Given the description of an element on the screen output the (x, y) to click on. 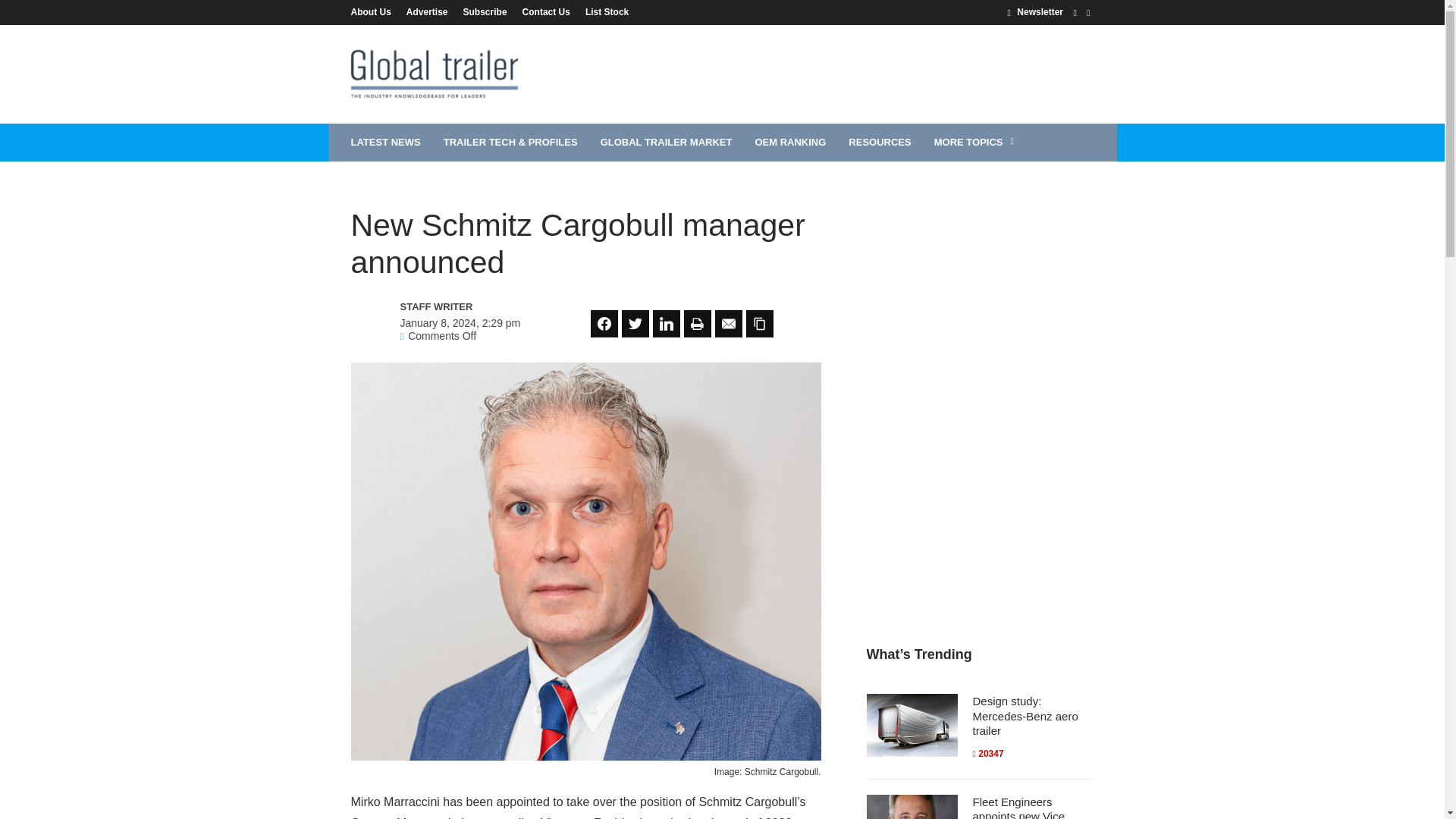
Share on Email (728, 323)
About Us (373, 11)
Share on Print (697, 323)
List Stock (603, 11)
Advertise (426, 11)
Share on Copy Link (759, 323)
LATEST NEWS (385, 142)
GLOBAL TRAILER MARKET (666, 142)
Share on LinkedIn (665, 323)
MORE TOPICS (976, 142)
